Given the description of an element on the screen output the (x, y) to click on. 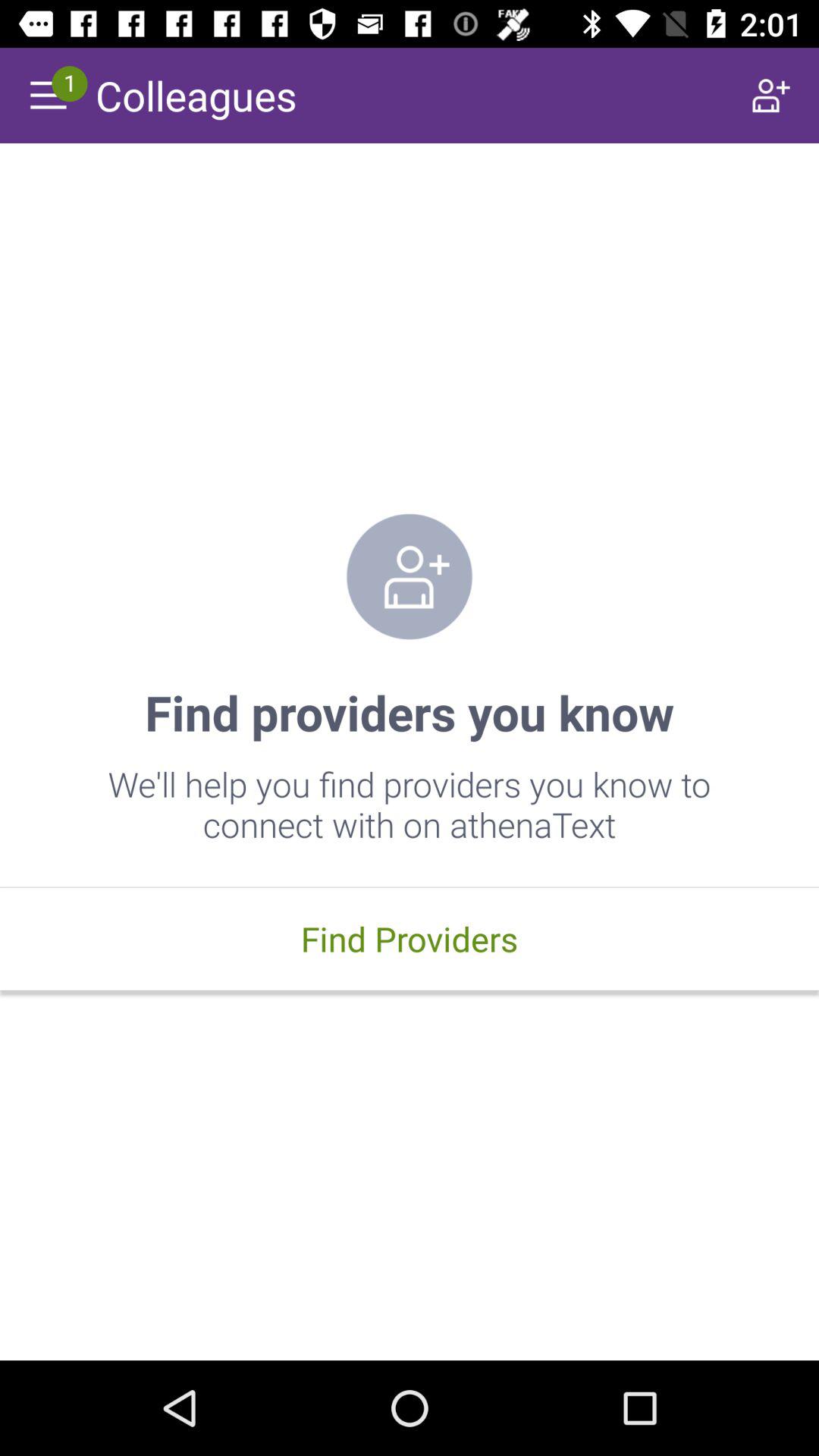
launch item next to colleagues item (771, 95)
